Given the description of an element on the screen output the (x, y) to click on. 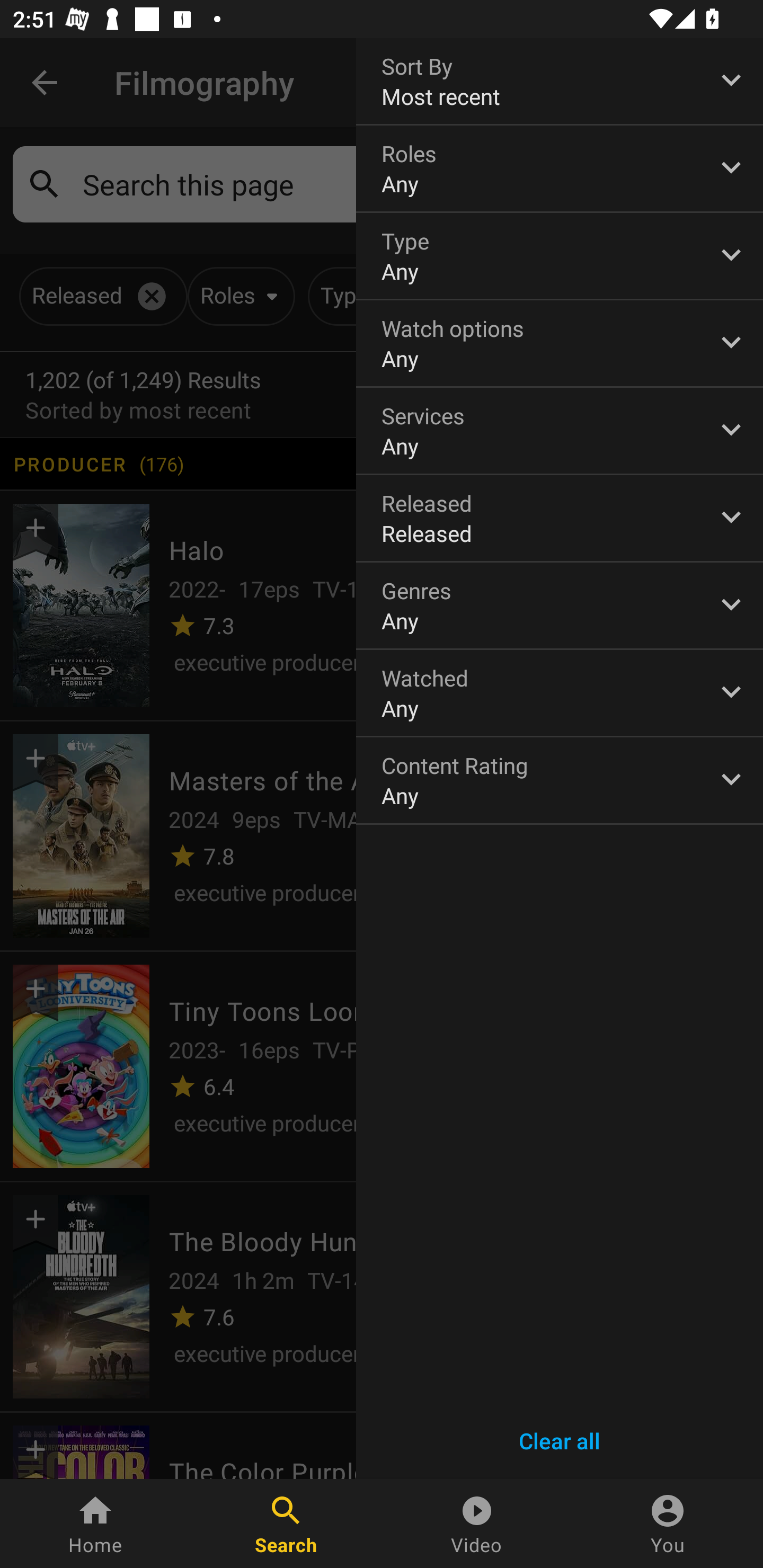
Sort By Most recent (559, 80)
Roles Any (559, 168)
Type Any (559, 256)
Watch options Any (559, 343)
Services Any (559, 430)
Released (559, 518)
Genres Any (559, 605)
Watched Any (559, 692)
Content Rating Any (559, 779)
Clear all (559, 1440)
Home (95, 1523)
Video (476, 1523)
You (667, 1523)
